Given the description of an element on the screen output the (x, y) to click on. 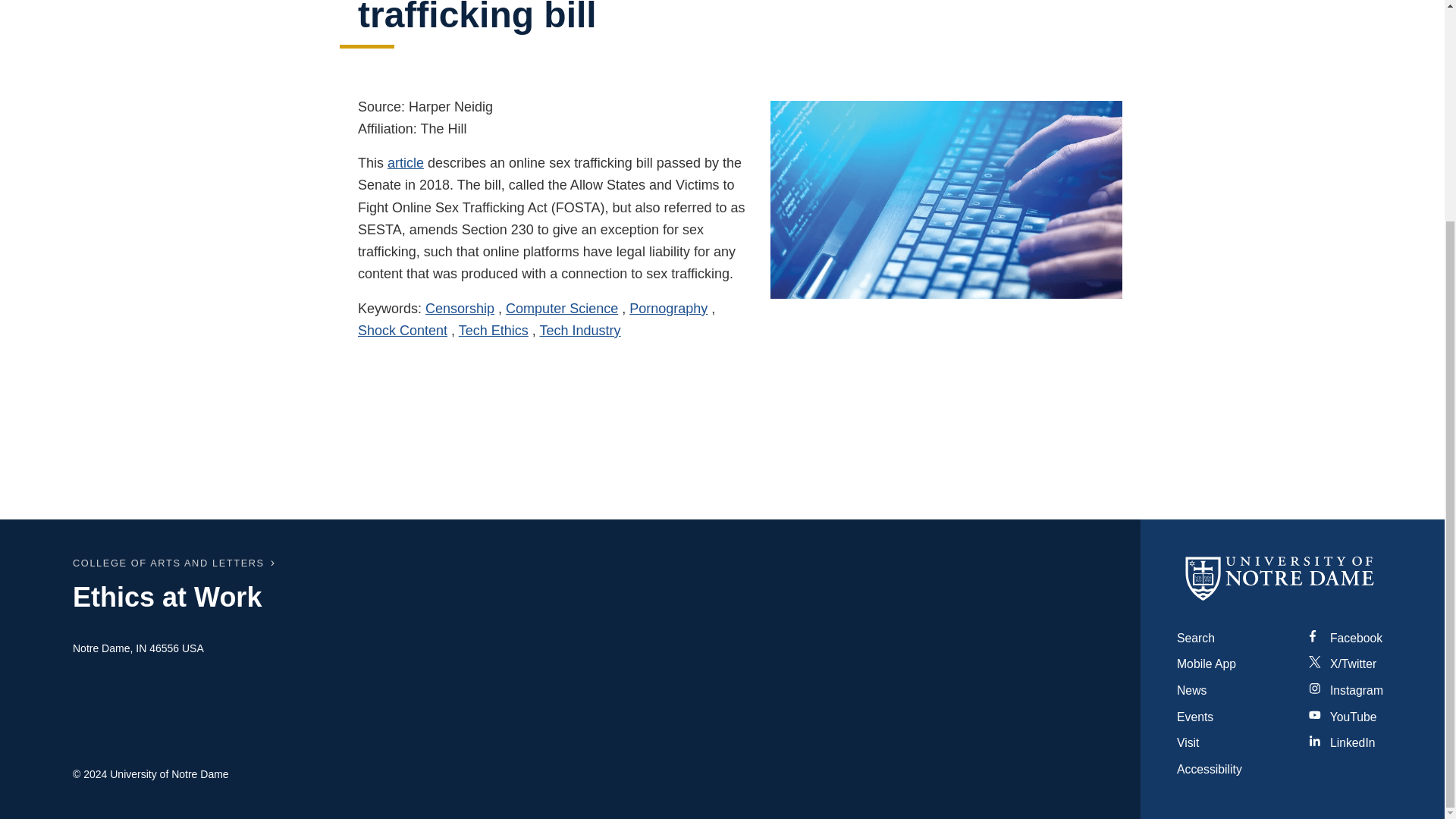
Shock Content (402, 330)
Tech Ethics (493, 330)
Censorship (460, 308)
Computer Science (561, 308)
COLLEGE OF ARTS AND LETTERS (168, 562)
article (405, 162)
Pornography (667, 308)
Tech Industry (580, 330)
Ethics at Work (167, 596)
